Given the description of an element on the screen output the (x, y) to click on. 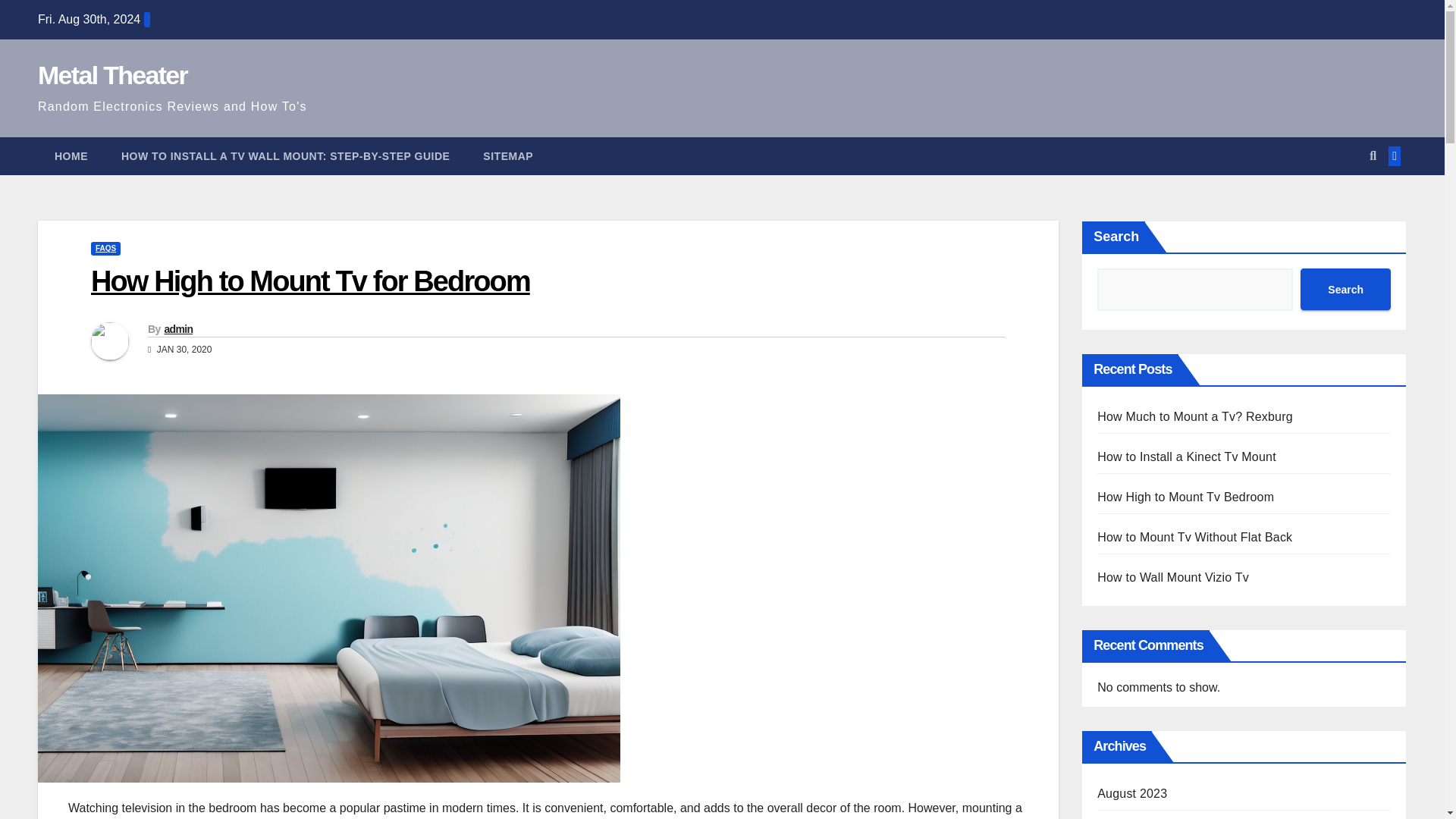
Home (70, 156)
Metal Theater (112, 74)
HOW TO INSTALL A TV WALL MOUNT: STEP-BY-STEP GUIDE (284, 156)
HOME (70, 156)
FAQS (105, 248)
SITEMAP (507, 156)
Permalink to: How High to Mount Tv for Bedroom (309, 281)
How High to Mount Tv for Bedroom (309, 281)
admin (177, 328)
